Given the description of an element on the screen output the (x, y) to click on. 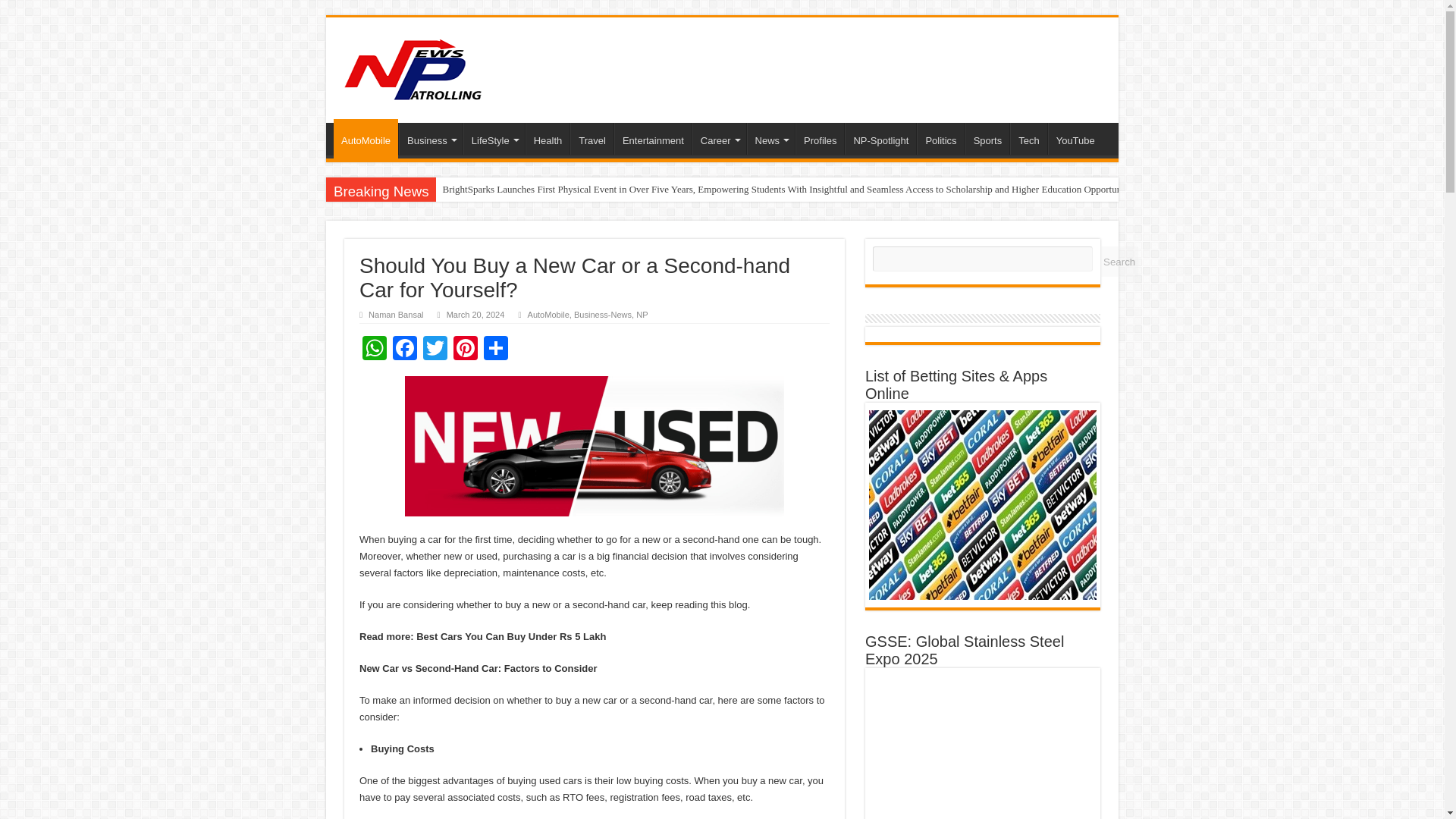
Newspatrolling.com (413, 67)
LifeStyle (493, 138)
WhatsApp (374, 349)
Health (547, 138)
Business (430, 138)
Travel (591, 138)
AutoMobile (365, 138)
Twitter (434, 349)
Facebook (405, 349)
